Given the description of an element on the screen output the (x, y) to click on. 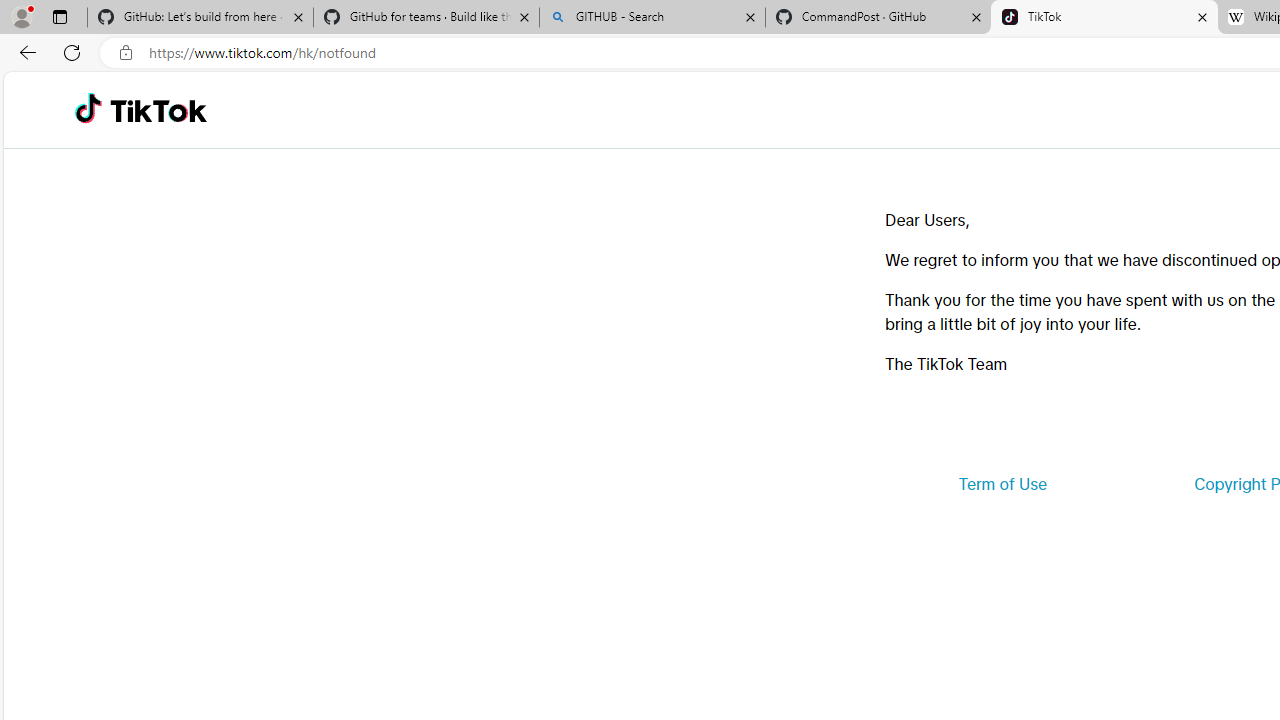
Term of Use (1002, 484)
GITHUB - Search (652, 17)
